Given the description of an element on the screen output the (x, y) to click on. 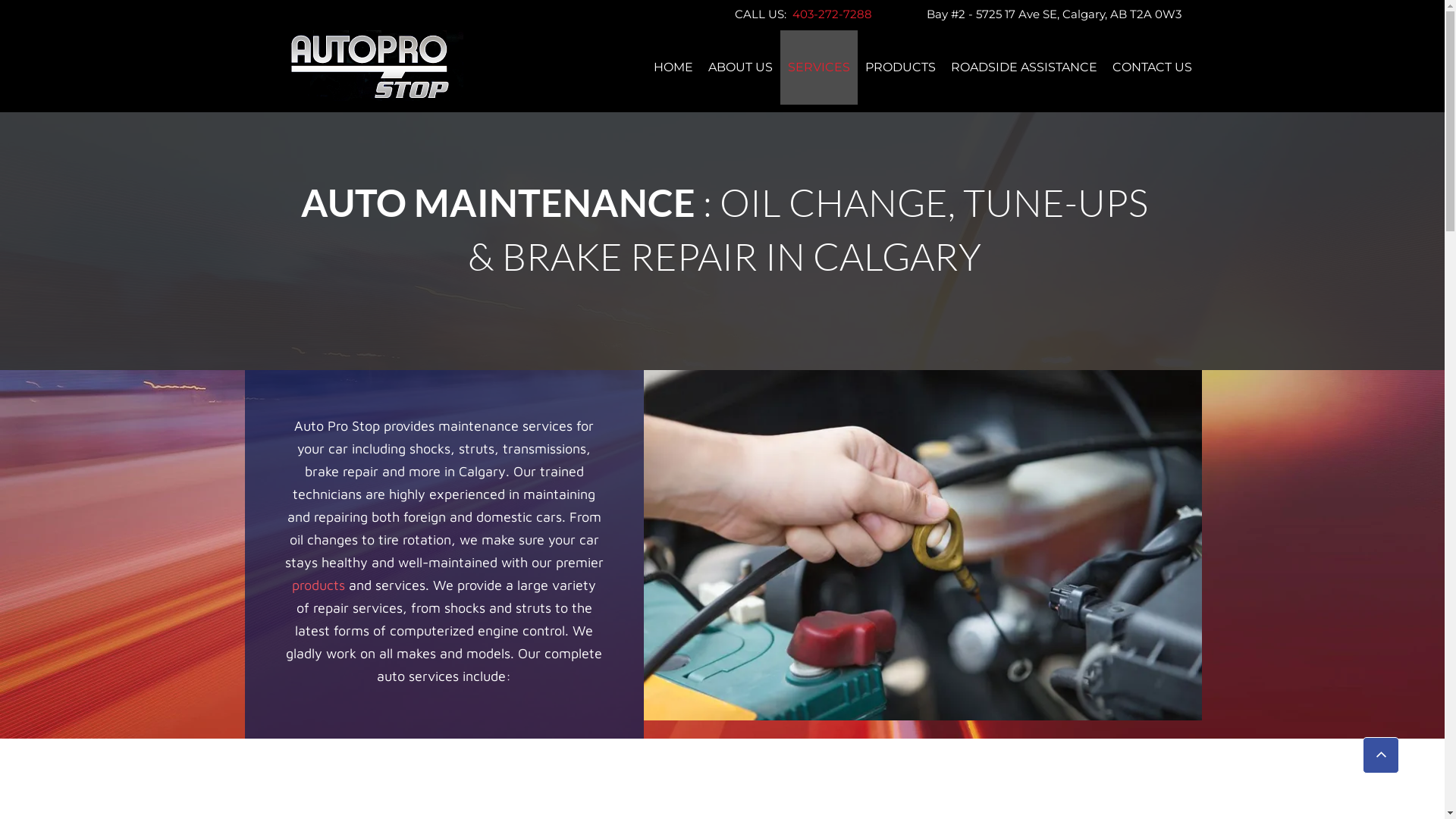
403-272-7288 Element type: text (829, 13)
ABOUT US Element type: text (740, 67)
CONTACT US Element type: text (1151, 67)
SERVICES Element type: text (818, 67)
products Element type: text (319, 585)
HOME Element type: text (673, 67)
PRODUCTS Element type: text (900, 67)
ROADSIDE ASSISTANCE Element type: text (1023, 67)
